Given the description of an element on the screen output the (x, y) to click on. 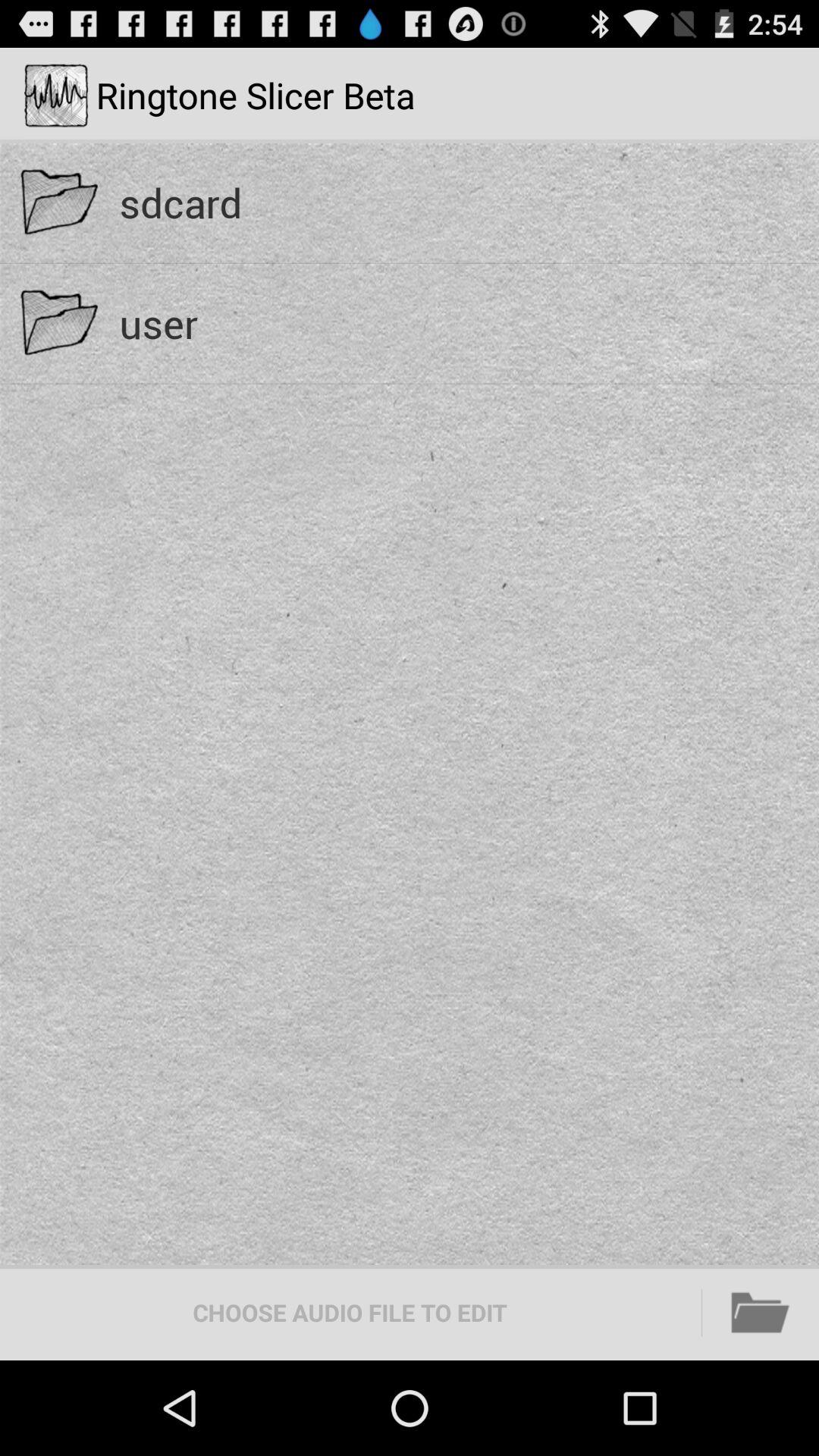
launch item next to choose audio file (760, 1312)
